Given the description of an element on the screen output the (x, y) to click on. 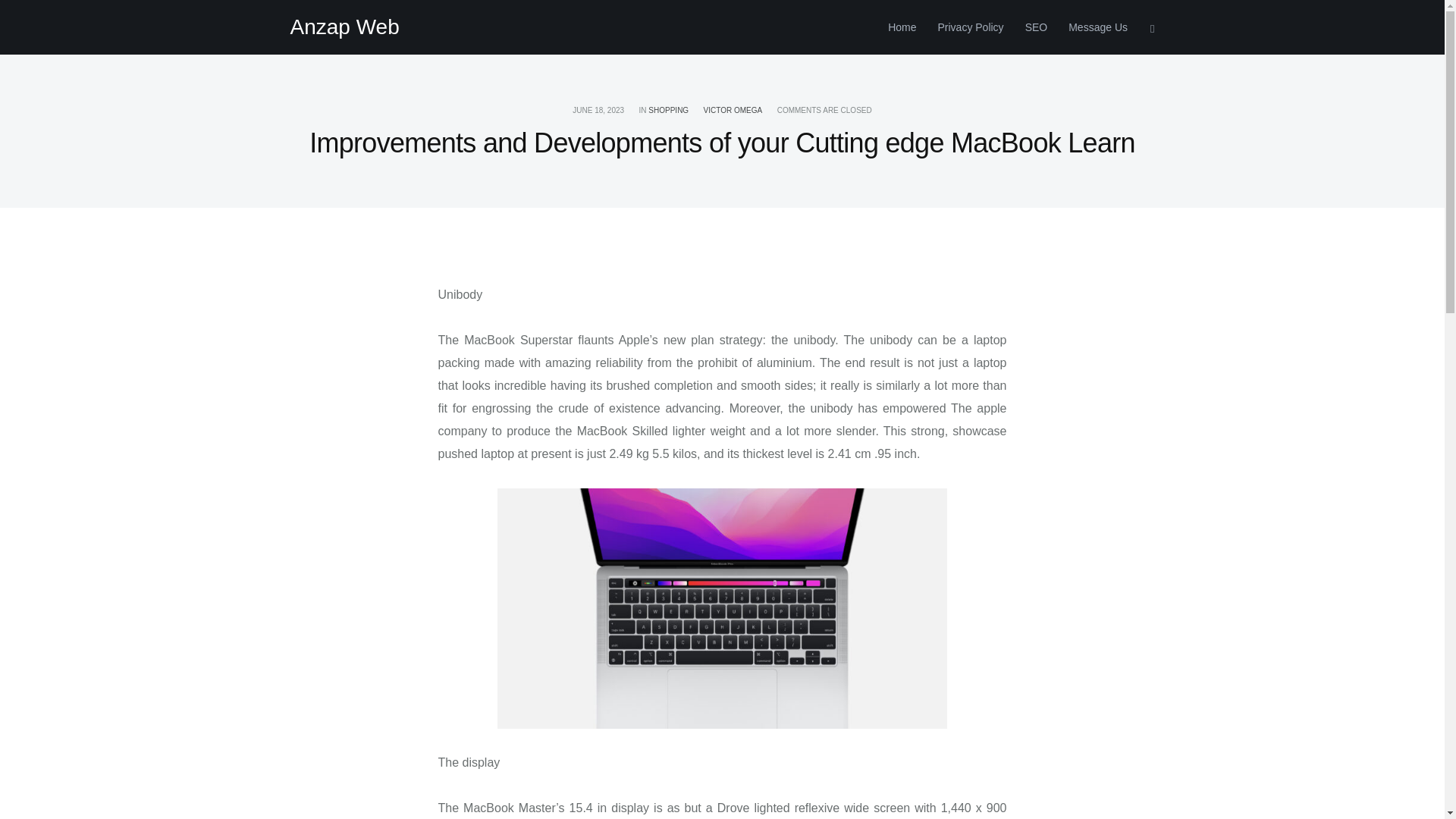
SHOPPING (667, 110)
Anzap Web (343, 27)
Message Us (1092, 27)
VICTOR OMEGA (732, 110)
Posts by Victor Omega (732, 110)
Home (901, 27)
Privacy Policy (969, 27)
